Given the description of an element on the screen output the (x, y) to click on. 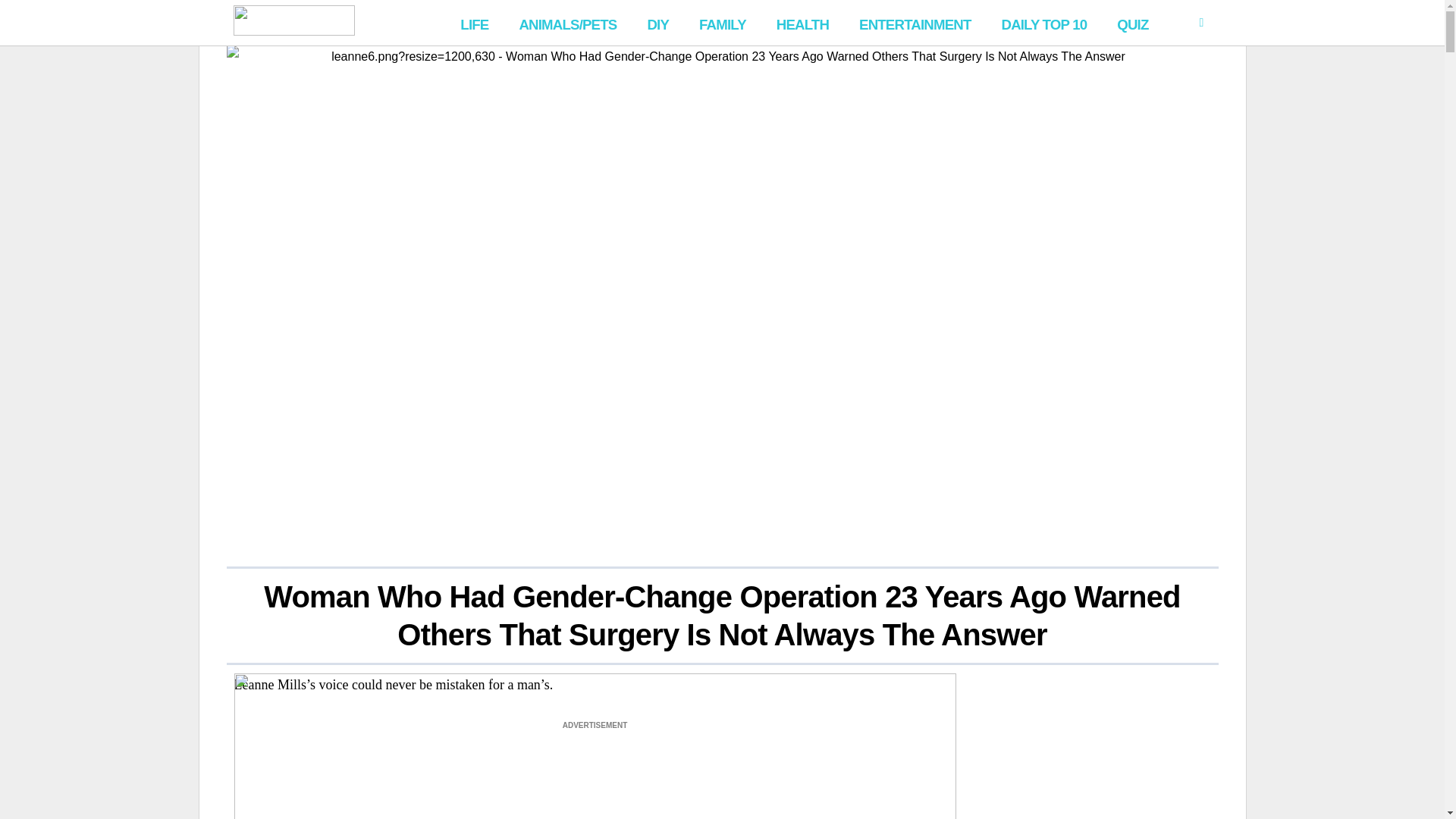
ENTERTAINMENT (914, 22)
LIFE (474, 22)
HEALTH (801, 22)
DAILY TOP 10 (1043, 22)
QUIZ (1132, 22)
FAMILY (722, 22)
